Given the description of an element on the screen output the (x, y) to click on. 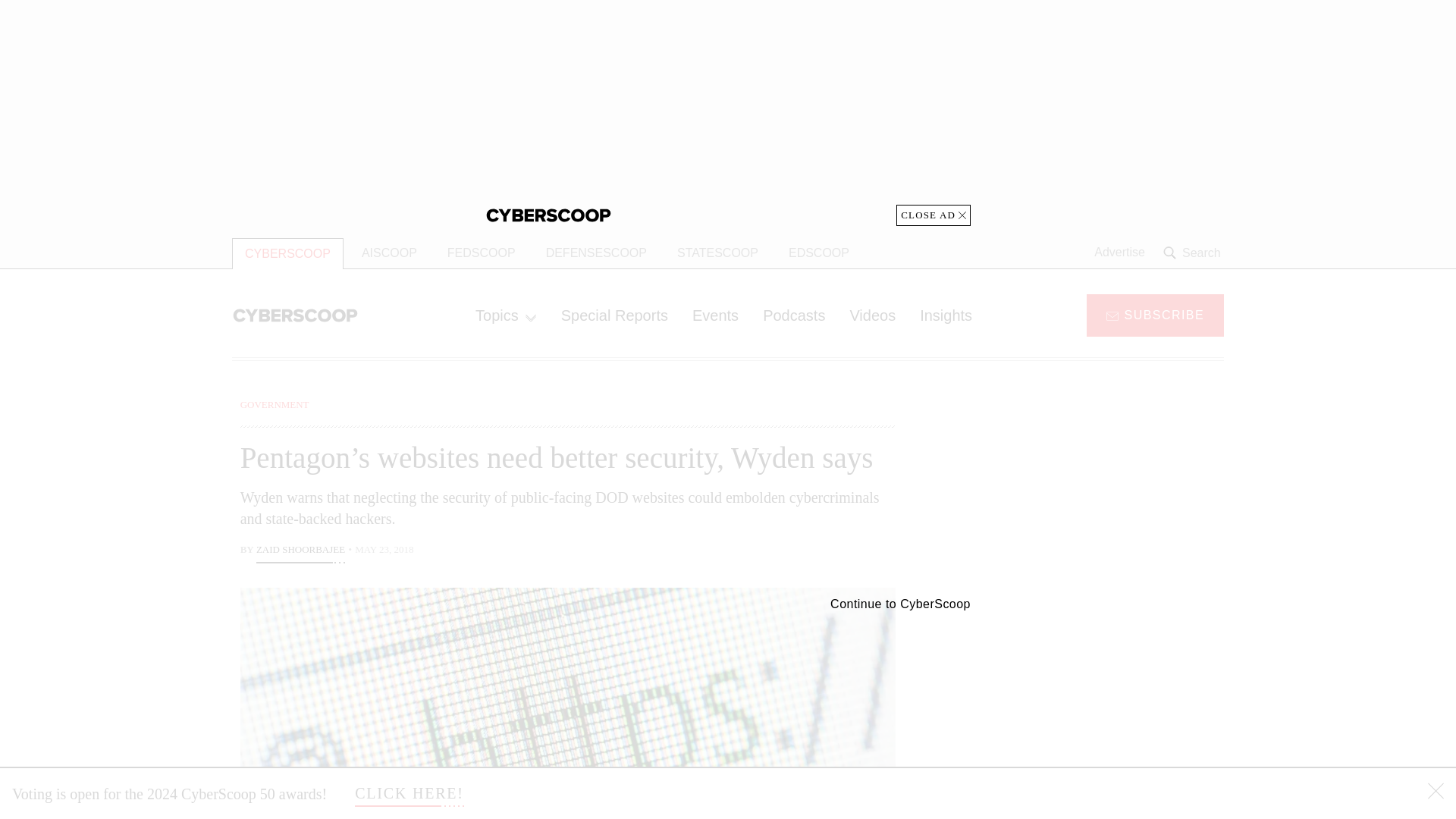
DEFENSESCOOP (596, 253)
3rd party ad content (1101, 492)
CLICK HERE! (409, 793)
EDSCOOP (818, 253)
STATESCOOP (717, 253)
Insights (945, 315)
Zaid Shoorbajee (300, 550)
CYBERSCOOP (287, 253)
Events (715, 315)
Videos (872, 315)
Search (1193, 252)
AISCOOP (389, 253)
Podcasts (794, 315)
